Given the description of an element on the screen output the (x, y) to click on. 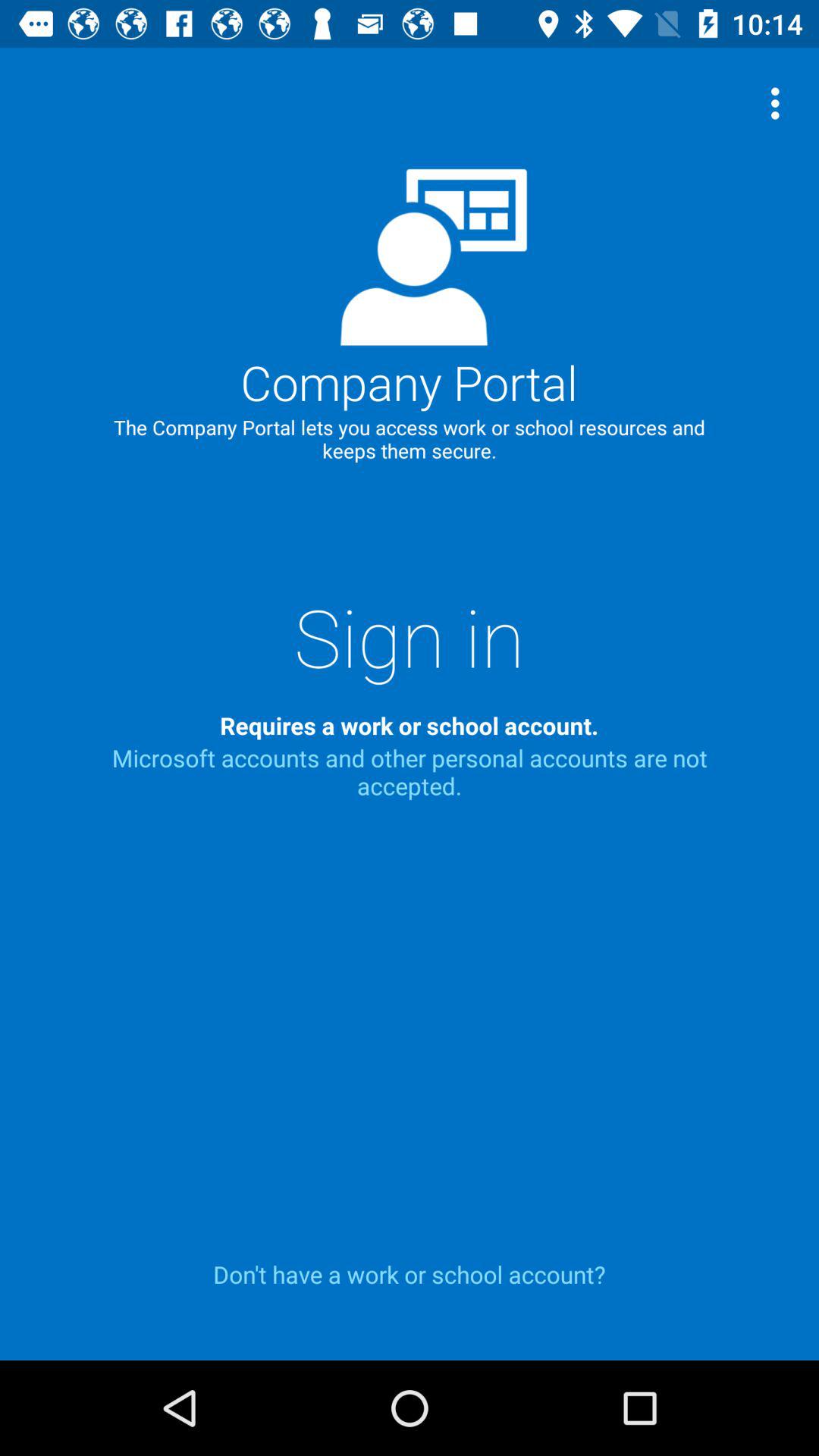
click the icon below microsoft accounts and (409, 1274)
